Given the description of an element on the screen output the (x, y) to click on. 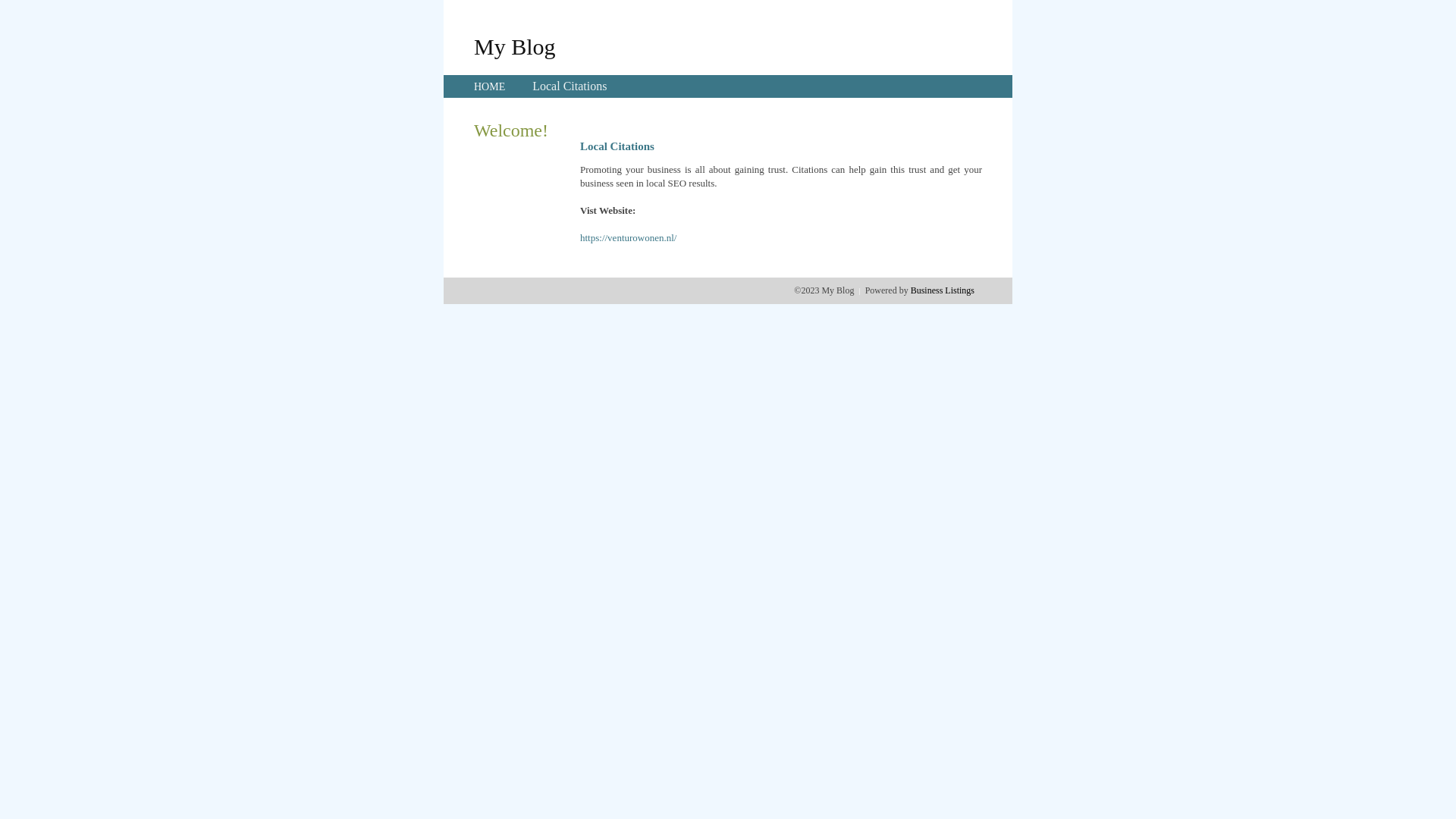
My Blog Element type: text (514, 46)
Business Listings Element type: text (942, 290)
Local Citations Element type: text (569, 85)
https://venturowonen.nl/ Element type: text (628, 237)
HOME Element type: text (489, 86)
